Given the description of an element on the screen output the (x, y) to click on. 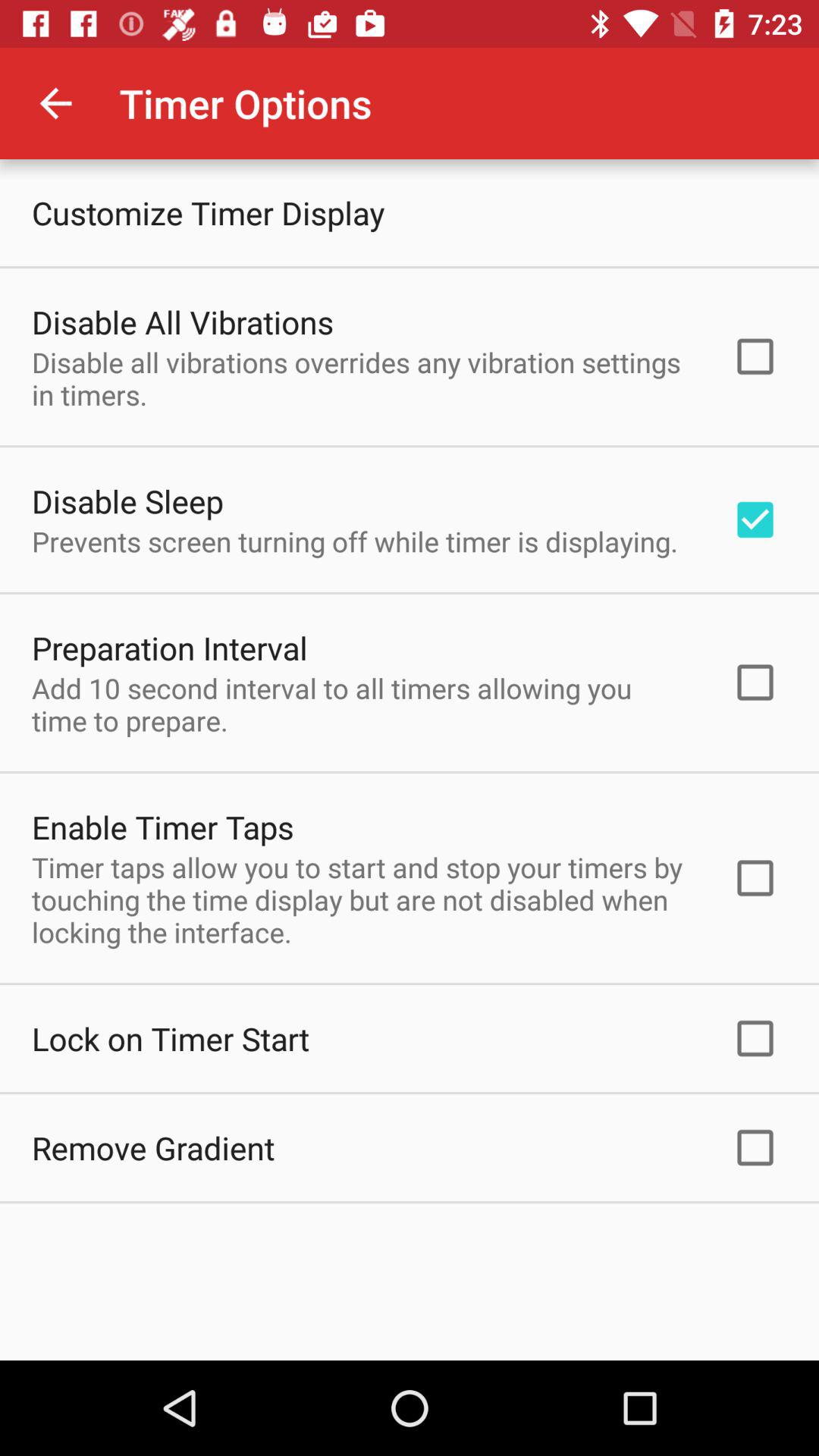
flip to the disable sleep icon (127, 500)
